Given the description of an element on the screen output the (x, y) to click on. 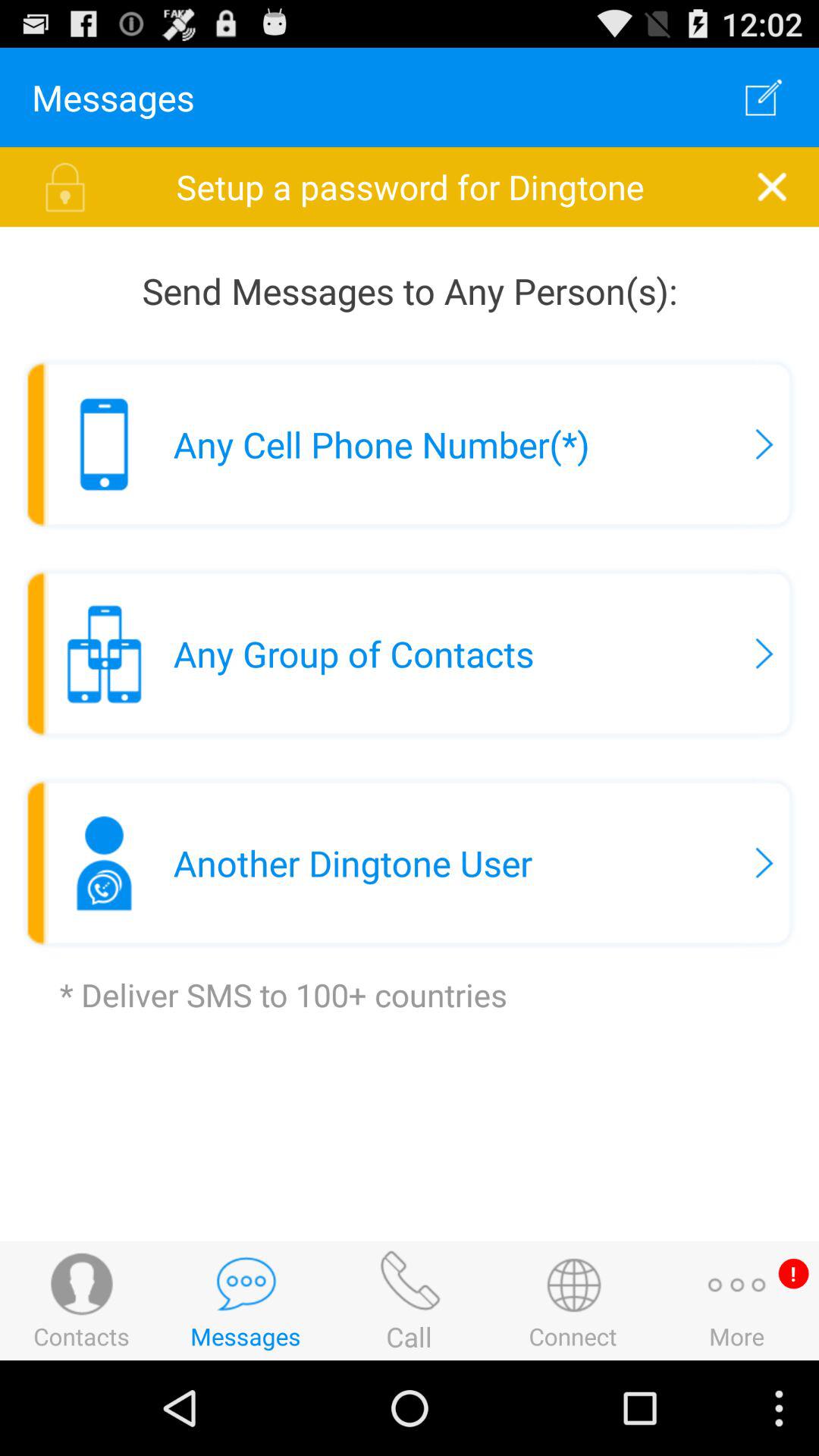
edit information (763, 97)
